Given the description of an element on the screen output the (x, y) to click on. 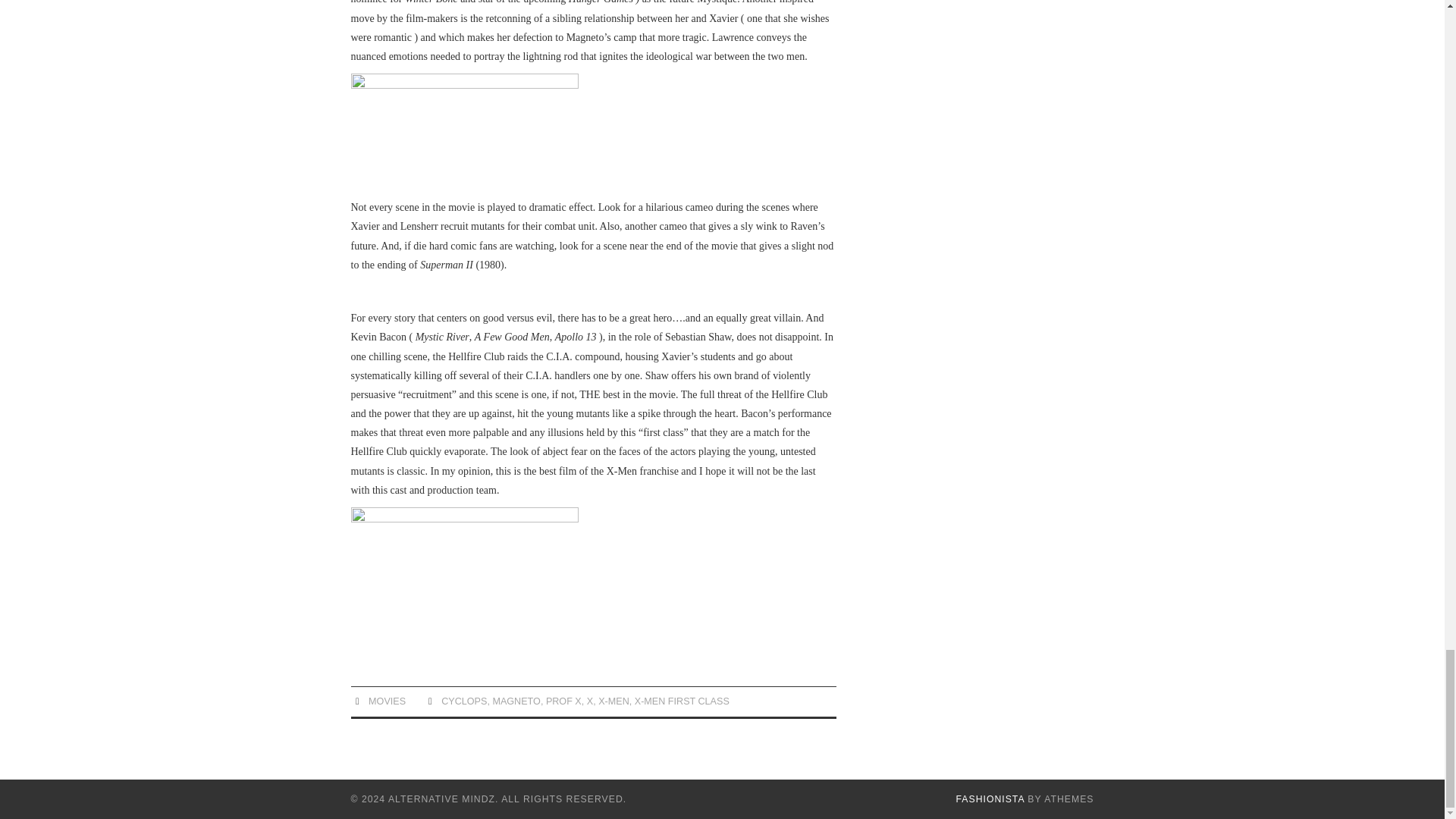
X-MEN (613, 701)
PROF X (563, 701)
CYCLOPS (463, 701)
MOVIES (387, 701)
MAGNETO (516, 701)
X-Men-First-Class-Reviewskkk (464, 131)
X-Men-First-Class-Magneto-2-9-11-kc (464, 581)
X-MEN FIRST CLASS (681, 701)
